Given the description of an element on the screen output the (x, y) to click on. 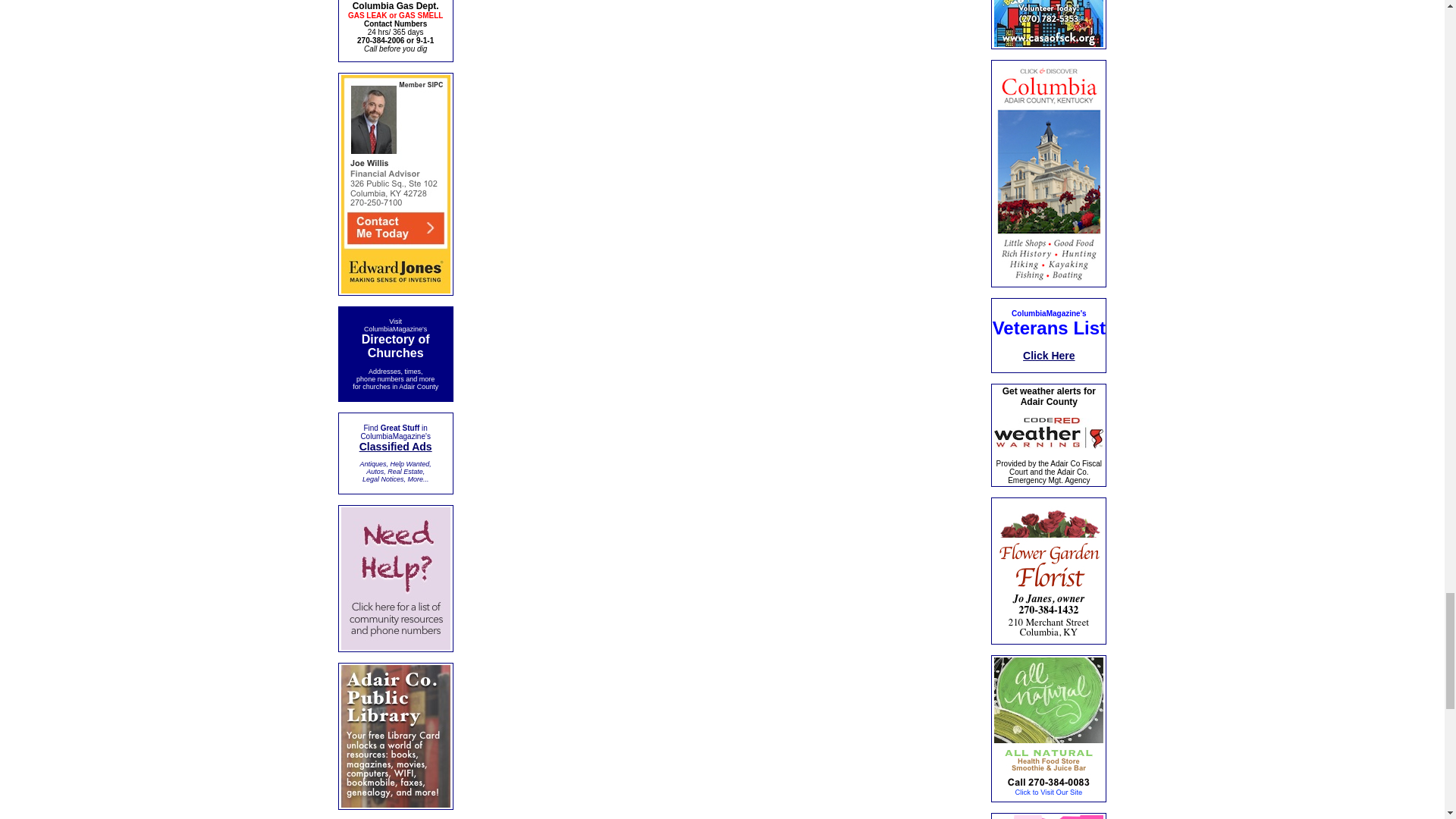
Directory of Churches (395, 346)
Classified Ads (395, 447)
